Given the description of an element on the screen output the (x, y) to click on. 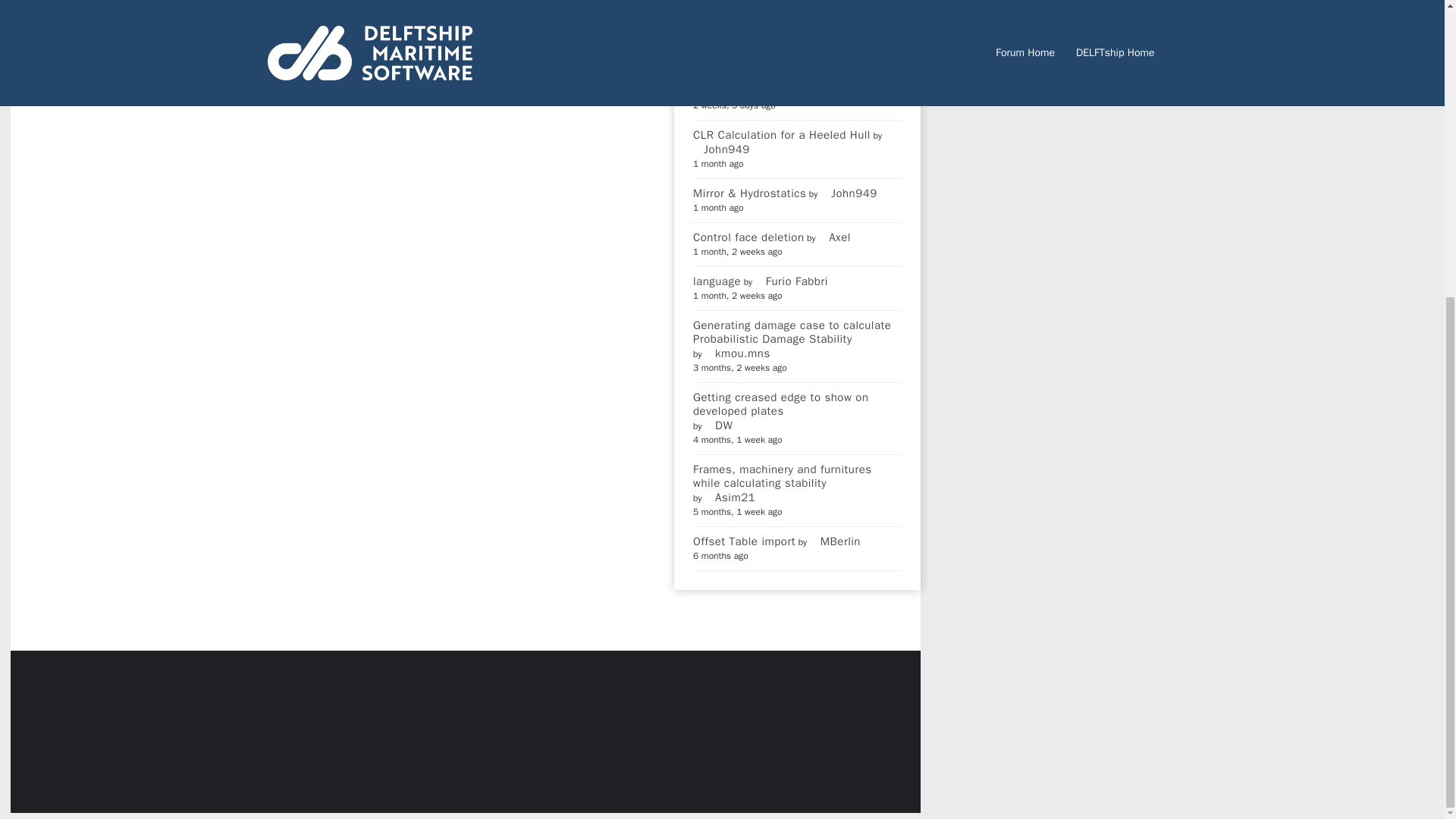
Furio Fabbri (791, 281)
CLR Calculation for a Heeled Hull (781, 134)
View Evergreenboats's profile (739, 90)
viewing individual stations (762, 18)
View MBerlin's profile (834, 540)
View Asim21's profile (729, 497)
View Furio Fabbri's profile (791, 281)
John949 (721, 149)
View kmou.mns's profile (737, 353)
Asim21 (729, 497)
